Given the description of an element on the screen output the (x, y) to click on. 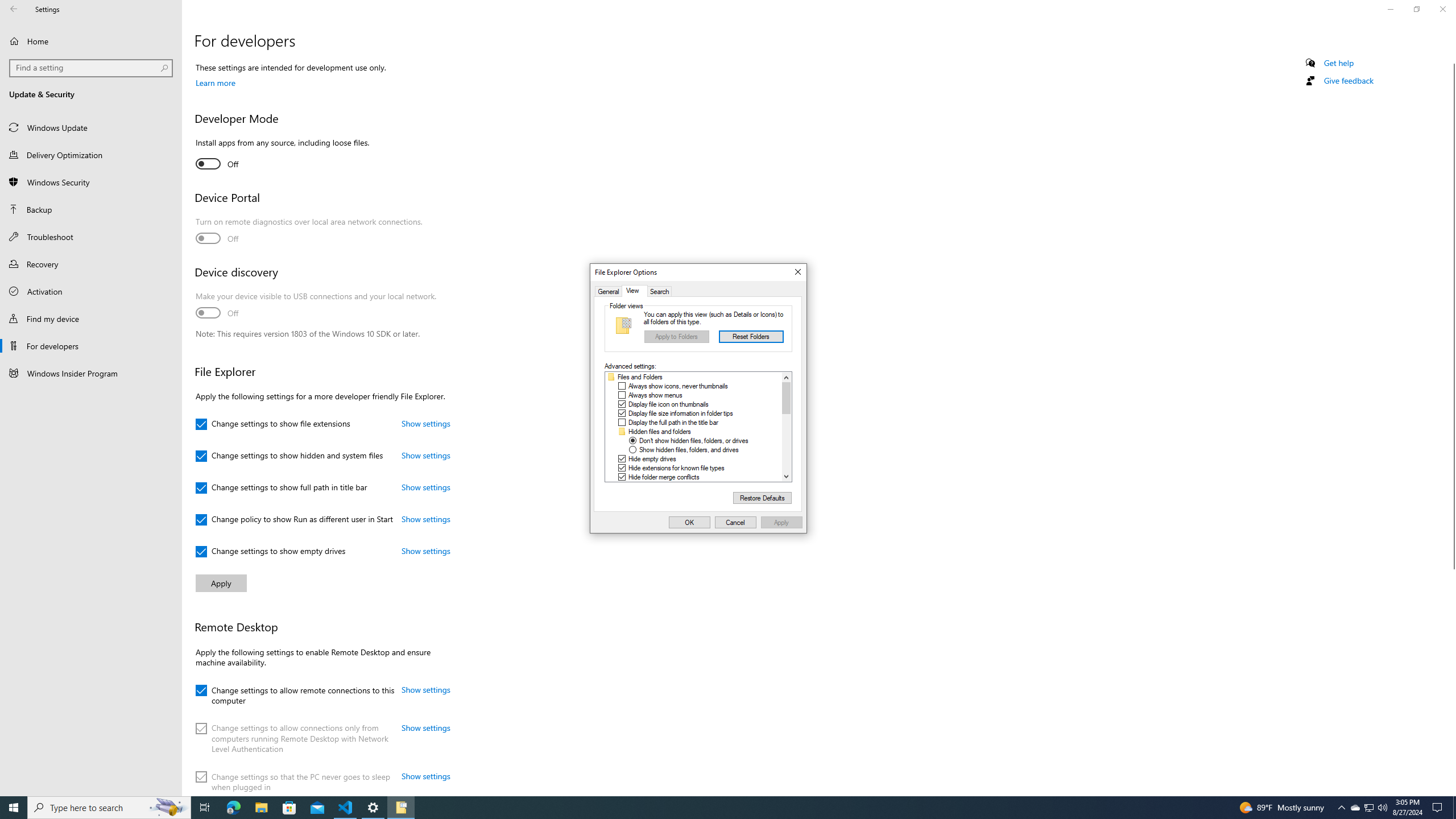
Hide extensions for known file types (676, 467)
Q2790: 100% (1382, 807)
Line down (785, 476)
Don't show hidden files, folders, or drives (693, 440)
Vertical (785, 426)
Hide empty drives (652, 458)
Display file icon on thumbnails (668, 403)
Always show menus (655, 394)
Type here to search (108, 807)
Close (796, 271)
Task View (204, 807)
Restore Defaults (762, 497)
General (609, 290)
Reset Folders (750, 336)
Apply (781, 522)
